Given the description of an element on the screen output the (x, y) to click on. 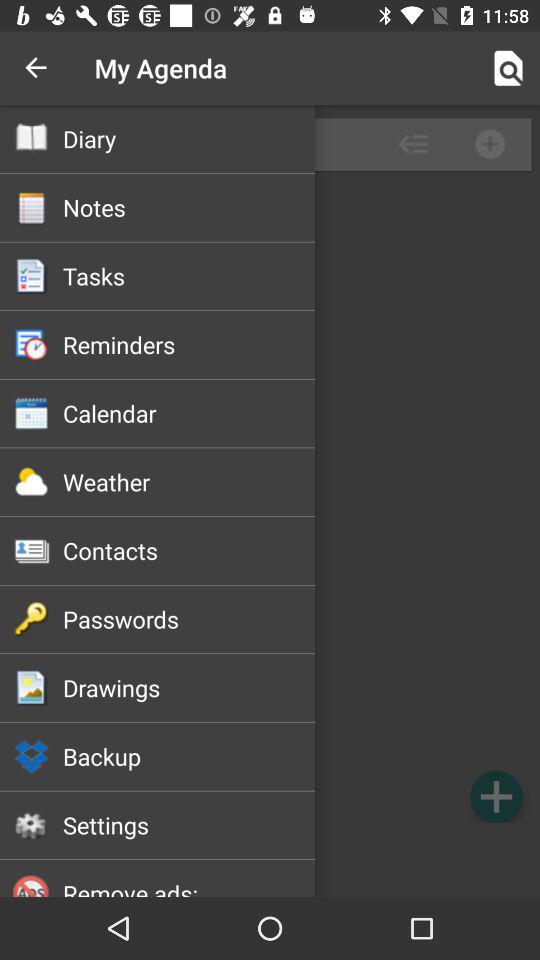
your agenda view (269, 501)
